Given the description of an element on the screen output the (x, y) to click on. 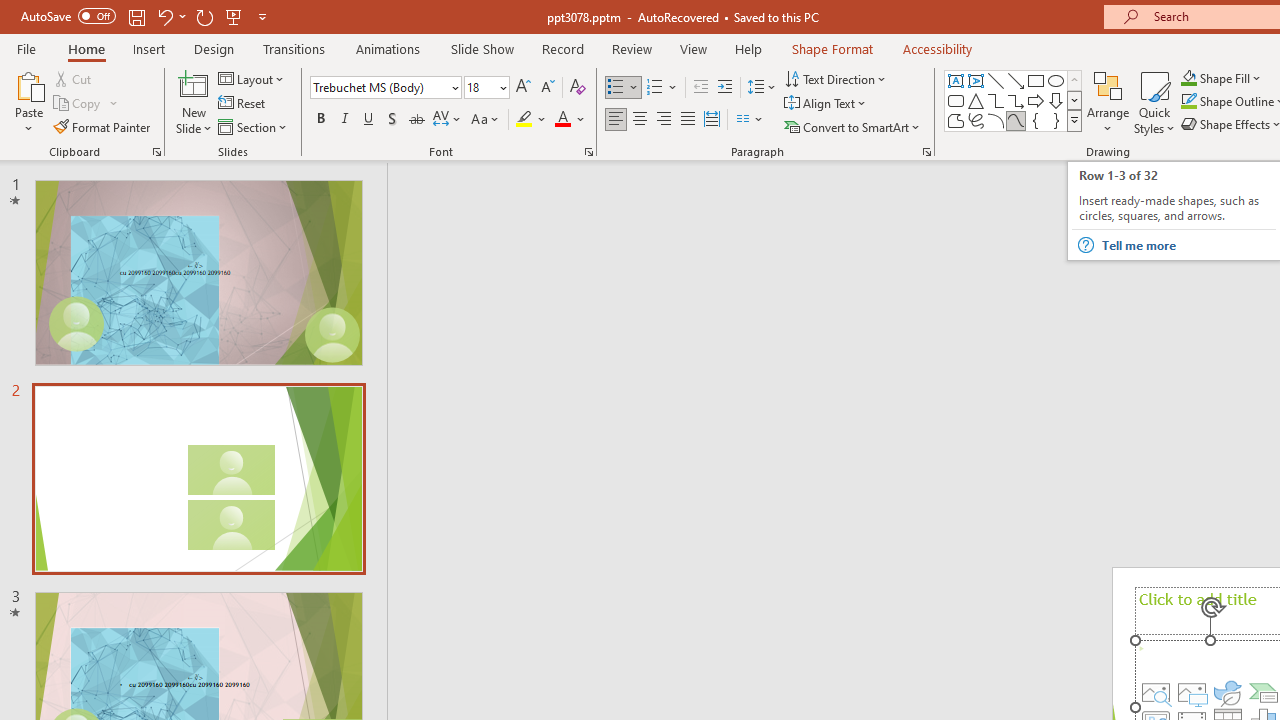
Stock Images (1156, 692)
Tell me more (1187, 245)
